Given the description of an element on the screen output the (x, y) to click on. 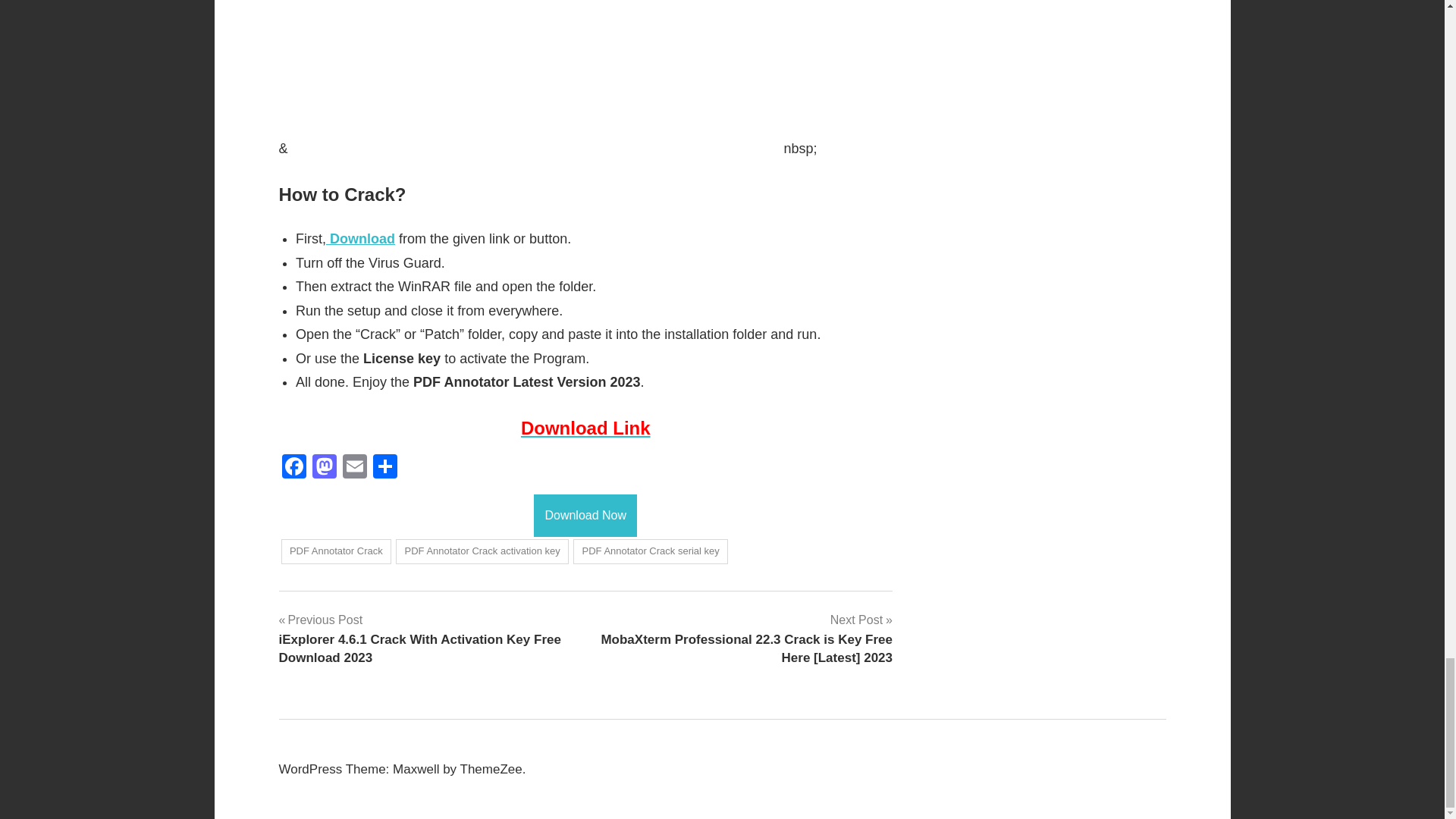
Mastodon (323, 468)
Facebook (293, 468)
Download Now (585, 515)
Facebook (293, 468)
Email (354, 468)
PDF Annotator Crack serial key (650, 551)
PDF Annotator Crack (336, 551)
Mastodon (323, 468)
Download Now (585, 514)
Share (384, 468)
PDF Annotator 2 Tutorial (536, 76)
PDF Annotator Crack activation key (482, 551)
Email (354, 468)
Download Link (585, 427)
